Given the description of an element on the screen output the (x, y) to click on. 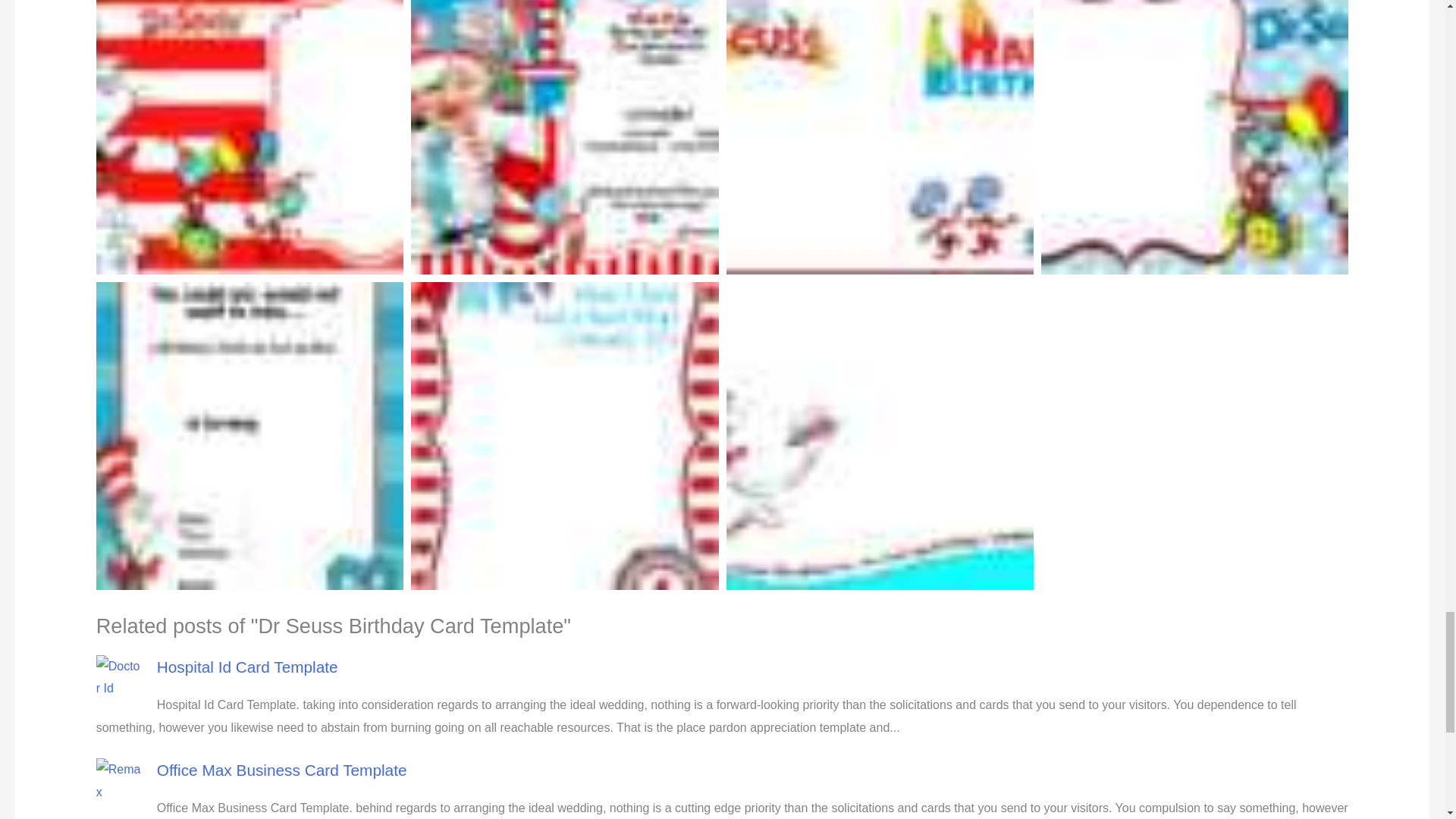
Hospital Id Card Template (247, 666)
Office Max Business Card Template (282, 769)
